Given the description of an element on the screen output the (x, y) to click on. 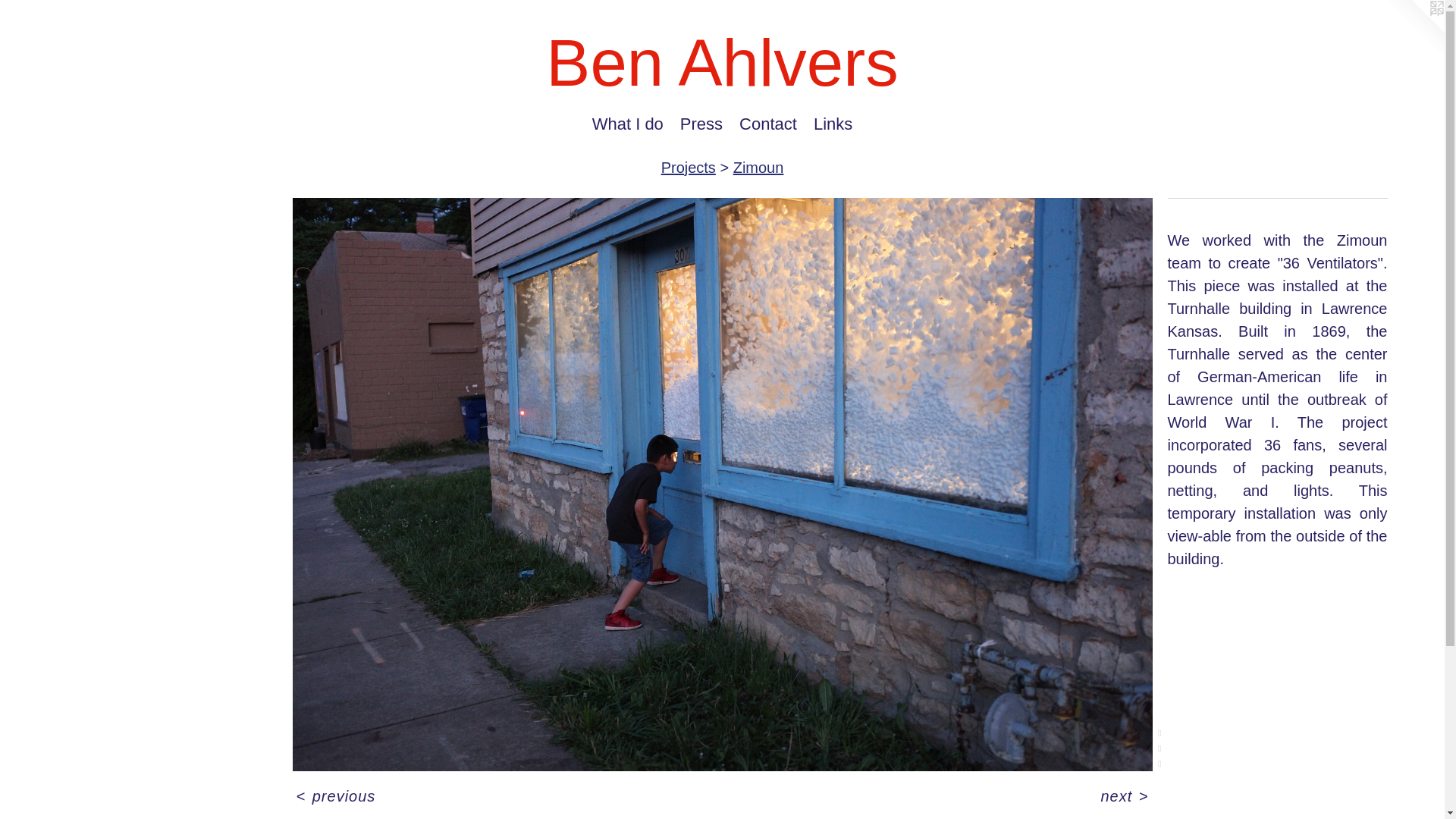
Ben Ahlvers (721, 70)
What I do (627, 124)
